Given the description of an element on the screen output the (x, y) to click on. 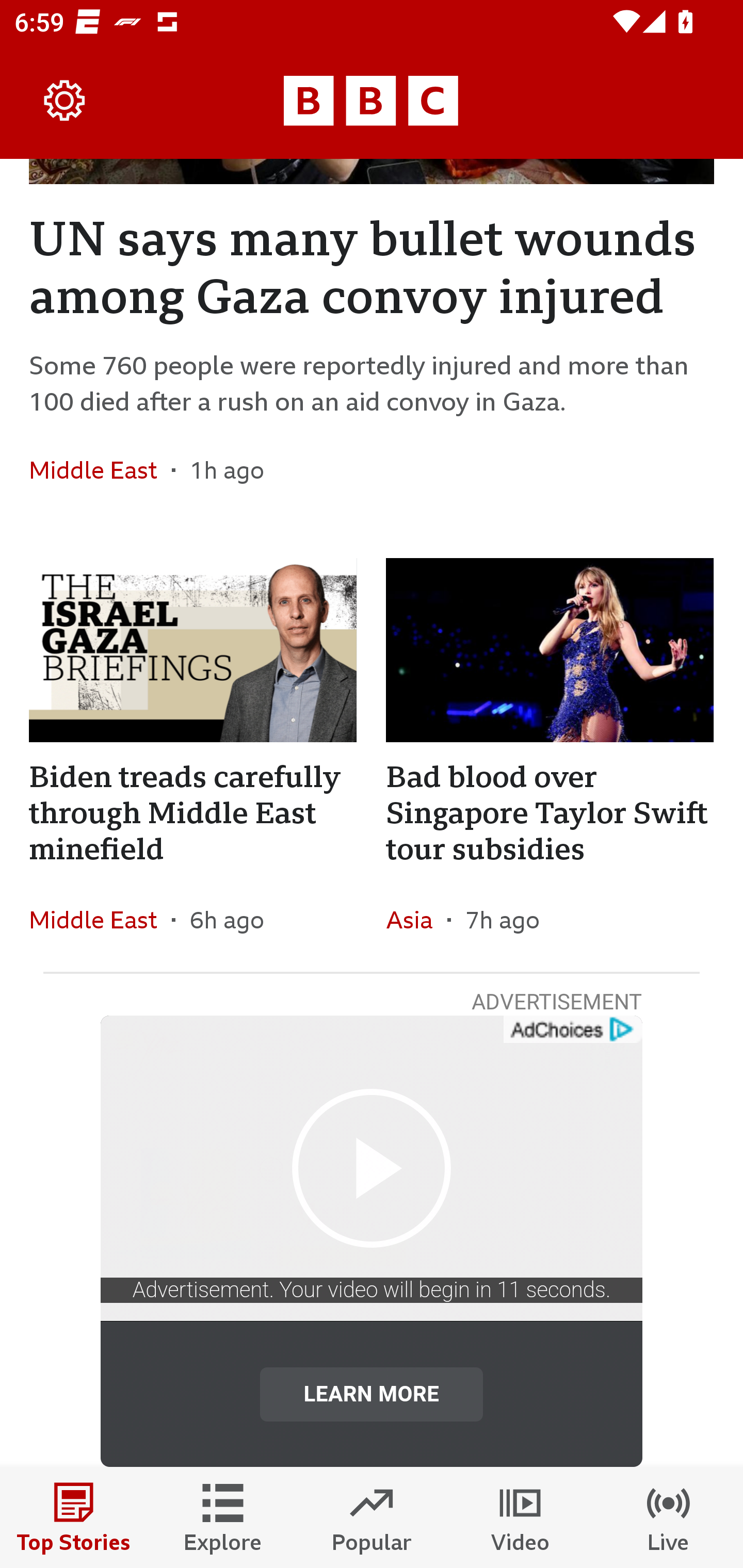
Settings (64, 100)
Middle East In the section Middle East (99, 469)
Middle East In the section Middle East (99, 919)
Asia In the section Asia (416, 919)
get?name=admarker-full-tl (571, 1030)
LEARN MORE (371, 1393)
Explore (222, 1517)
Popular (371, 1517)
Video (519, 1517)
Live (668, 1517)
